Given the description of an element on the screen output the (x, y) to click on. 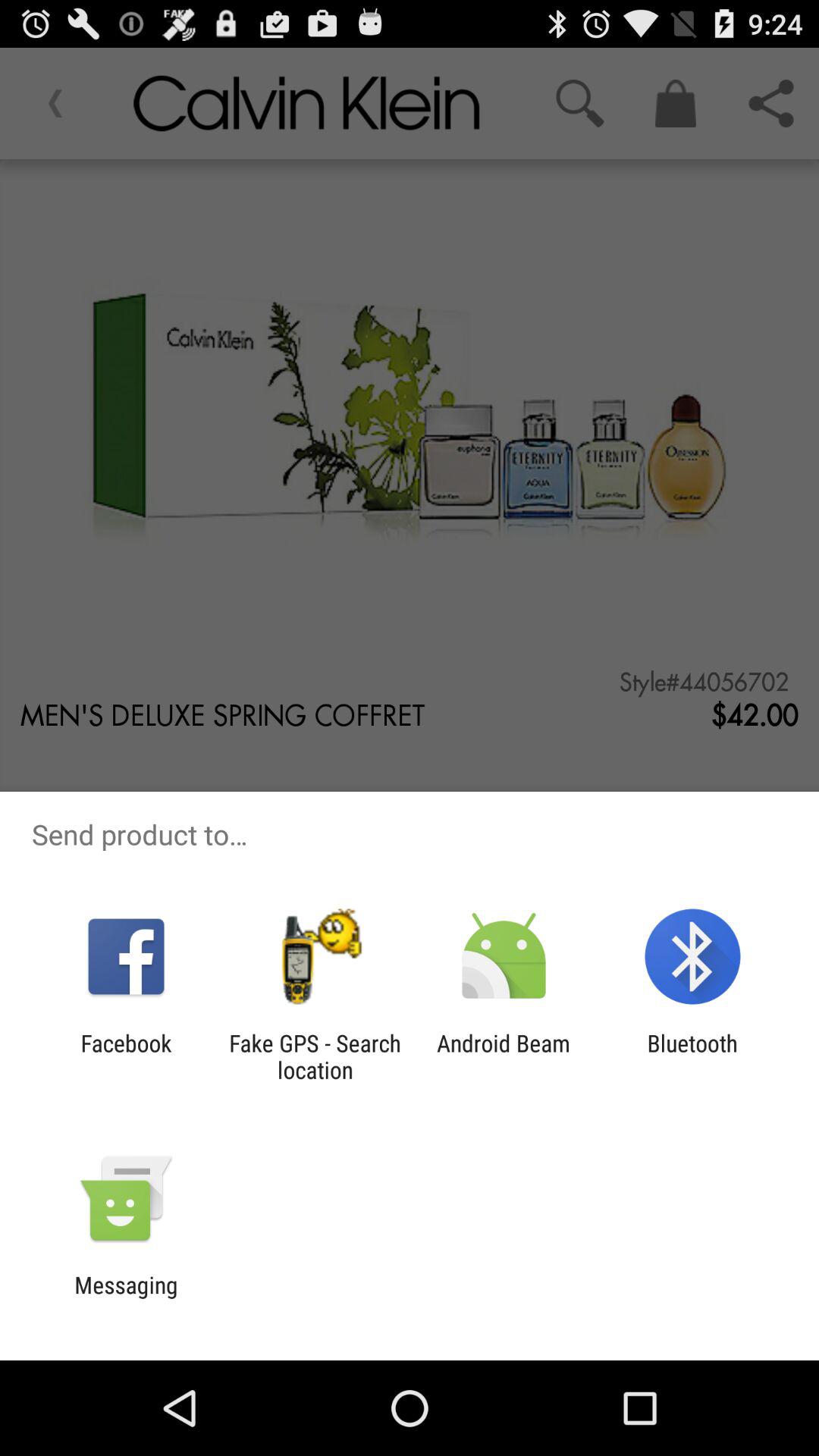
turn on the app to the left of fake gps search icon (125, 1056)
